Given the description of an element on the screen output the (x, y) to click on. 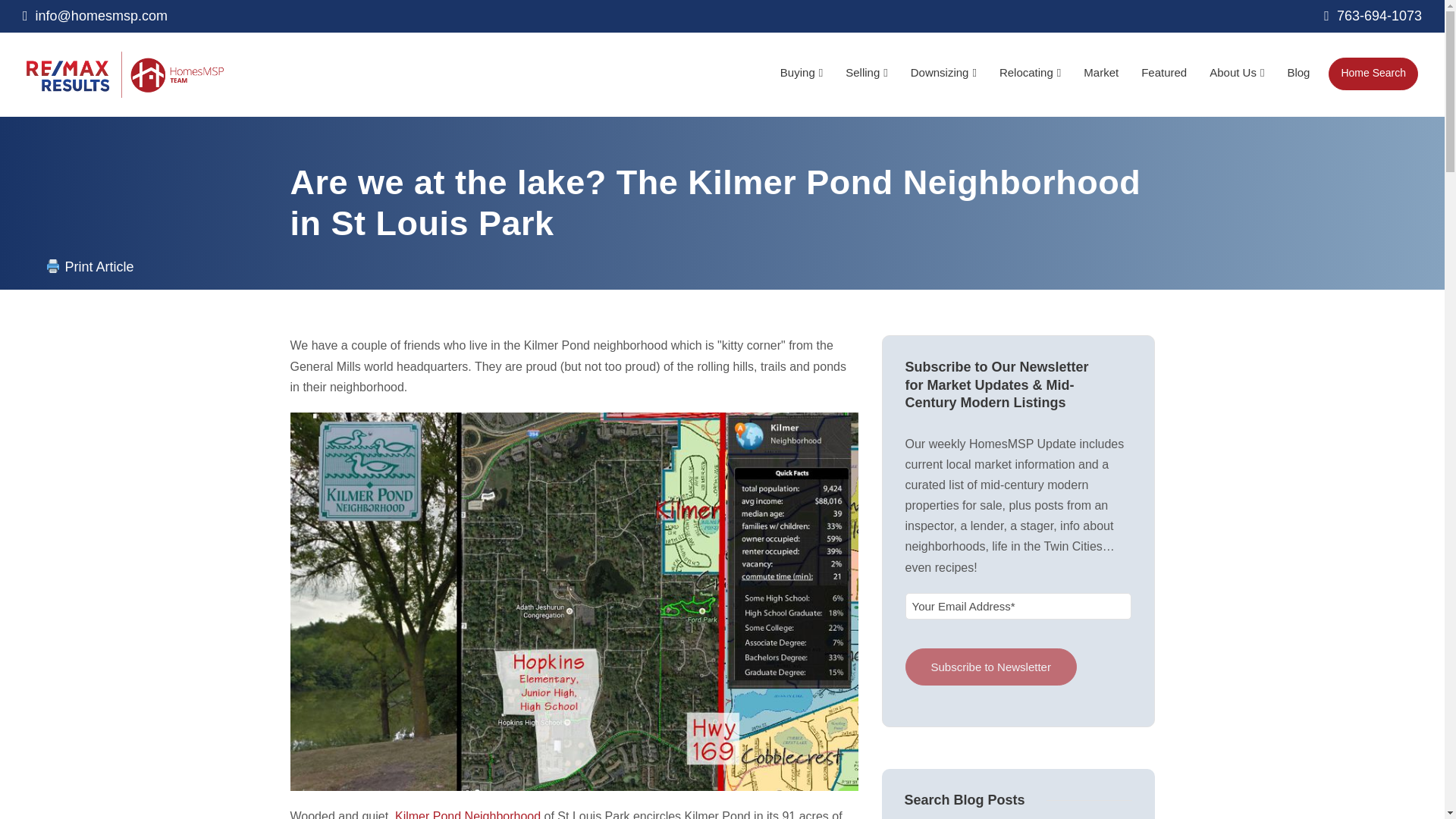
Subscribe to Newsletter (991, 666)
remax-homesmsp (125, 74)
